Given the description of an element on the screen output the (x, y) to click on. 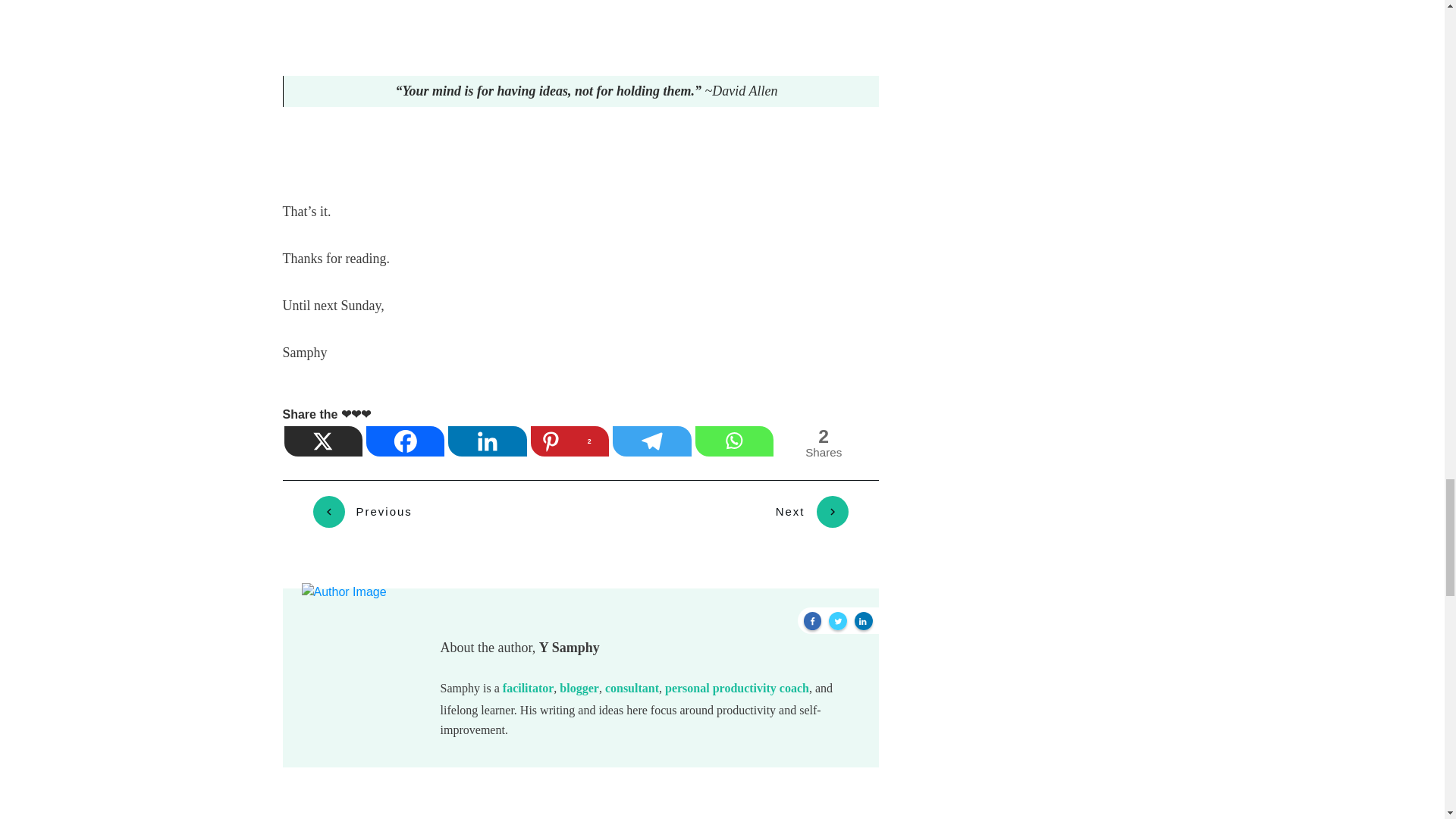
Facebook (405, 440)
X (322, 440)
Pinterest (570, 440)
Linkedin (487, 440)
2 (570, 440)
